Given the description of an element on the screen output the (x, y) to click on. 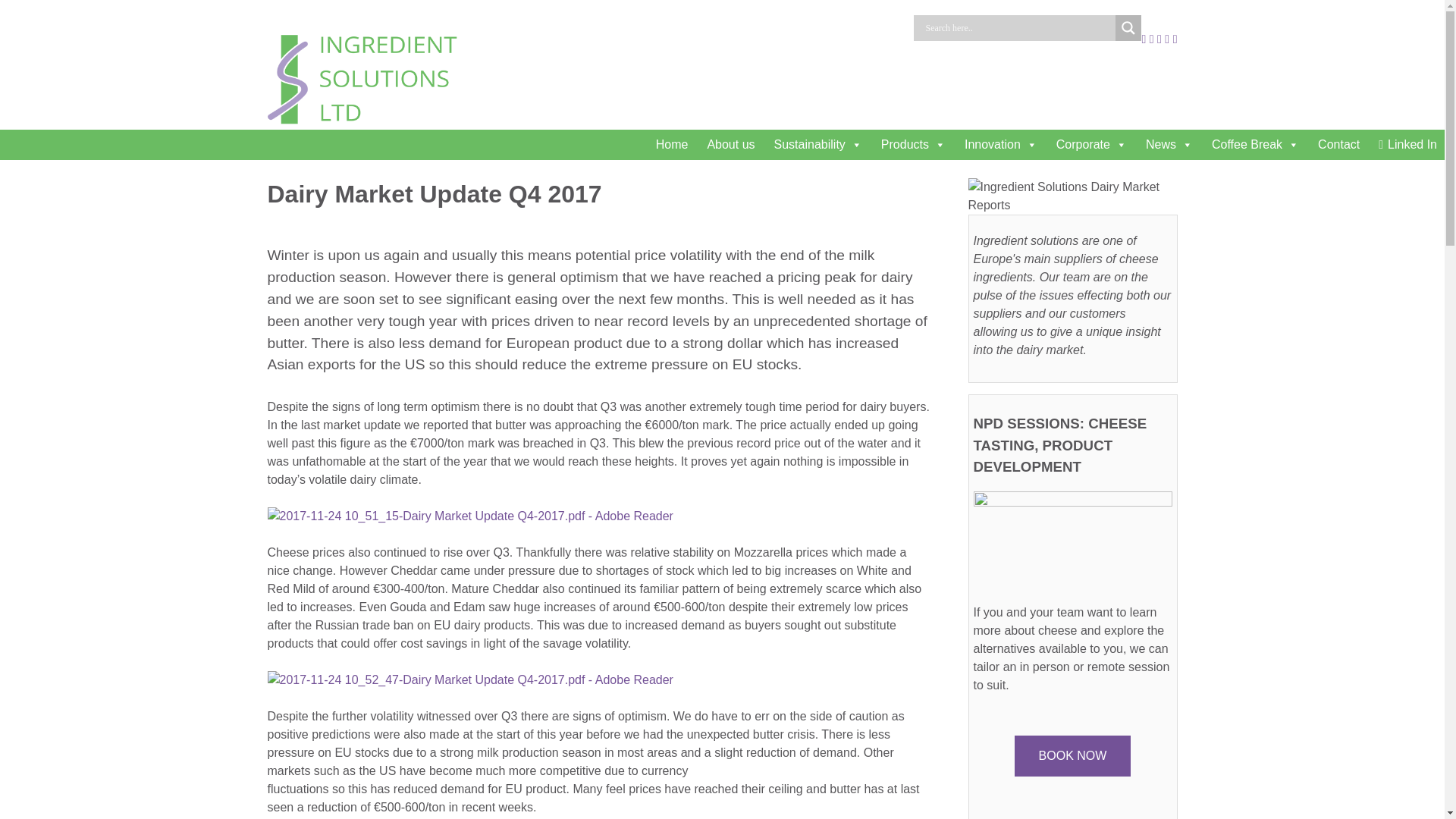
Home (670, 144)
Sustainability (815, 144)
The Cheese Factory (1336, 144)
INGREDIENT SOLUTIONS LTD (630, 55)
About us (728, 144)
Corporate (1089, 144)
Innovation (999, 144)
About the Irish Dairy Producer (728, 144)
Innovative Dairy Products (999, 144)
Products (911, 144)
